Given the description of an element on the screen output the (x, y) to click on. 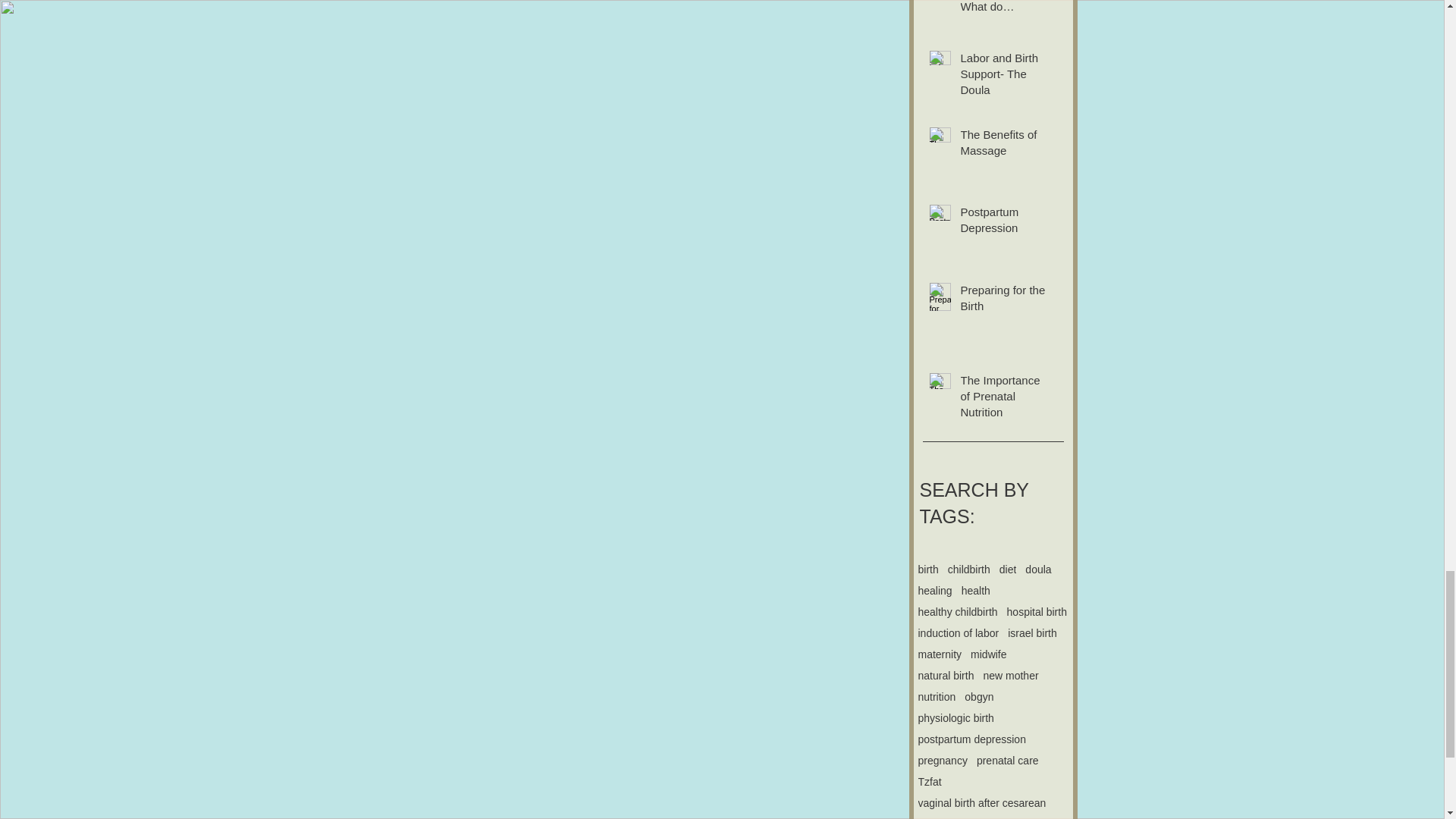
childbirth (968, 569)
doula (1038, 569)
Postpartum Depression (1002, 222)
health (975, 590)
The Importance of Prenatal Nutrition (1002, 398)
midwife (988, 654)
israel birth (1032, 633)
The Benefits of Massage (1002, 145)
induction of labor (957, 633)
maternity (938, 654)
natural birth (945, 675)
healing (934, 590)
Prenatal Care and Support - What do midwives do? (1002, 10)
healthy childbirth (957, 612)
hospital birth (1037, 612)
